Given the description of an element on the screen output the (x, y) to click on. 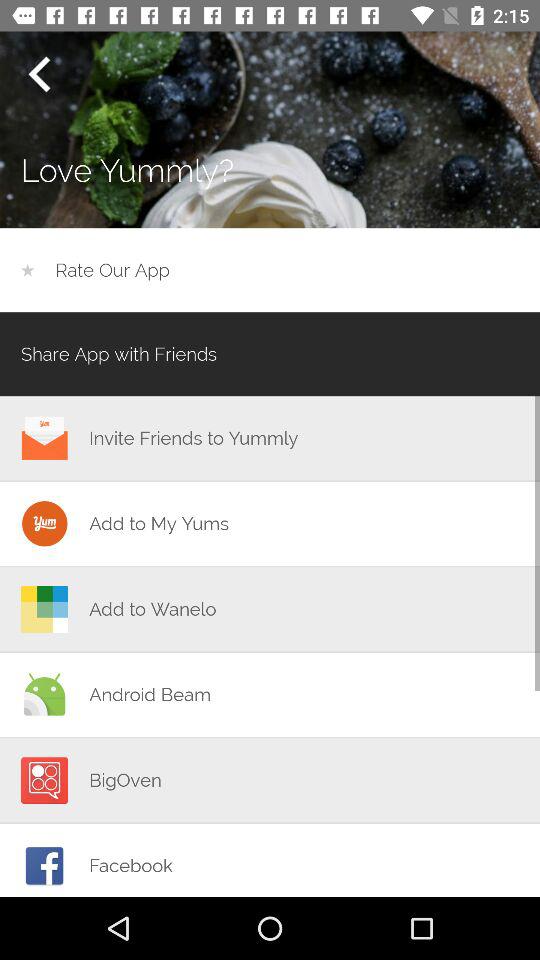
go back (39, 74)
